Given the description of an element on the screen output the (x, y) to click on. 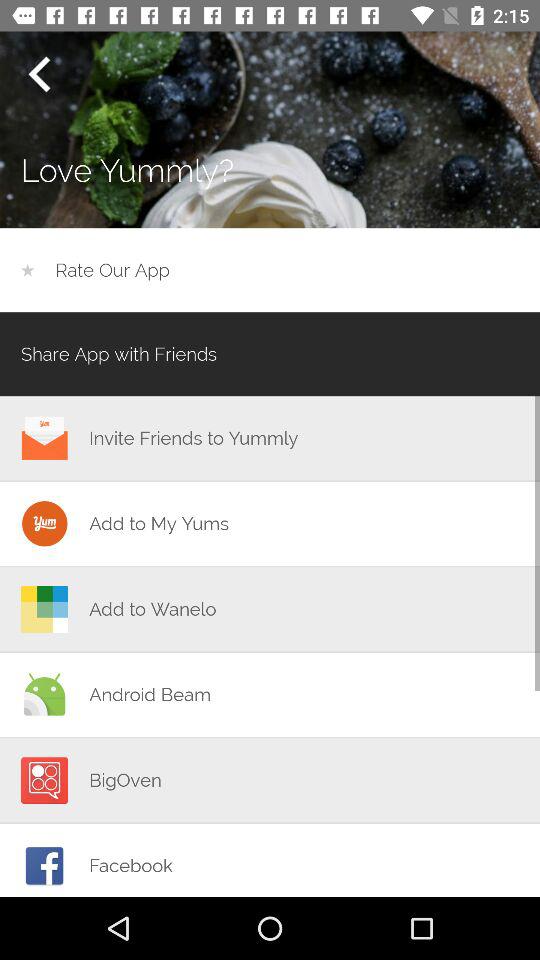
go back (39, 74)
